Given the description of an element on the screen output the (x, y) to click on. 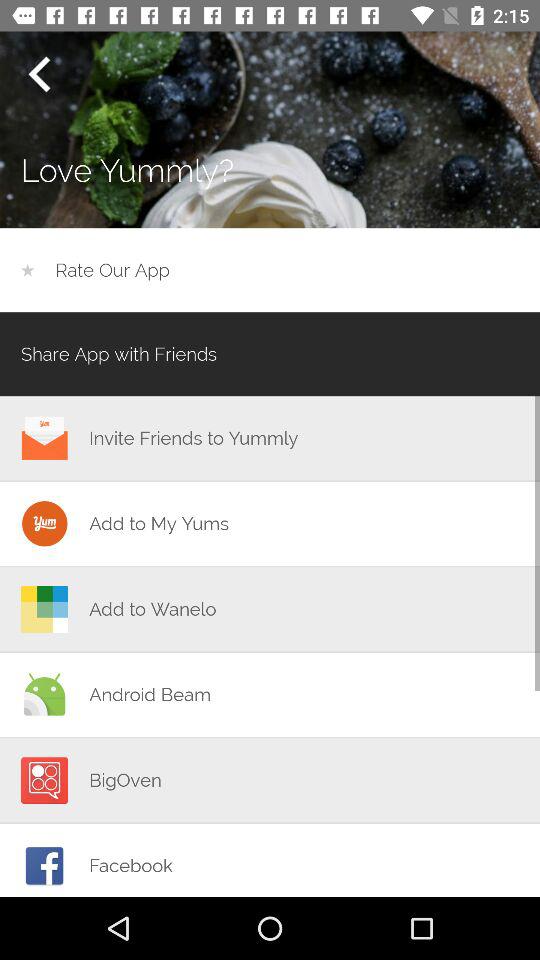
go back (39, 74)
